Given the description of an element on the screen output the (x, y) to click on. 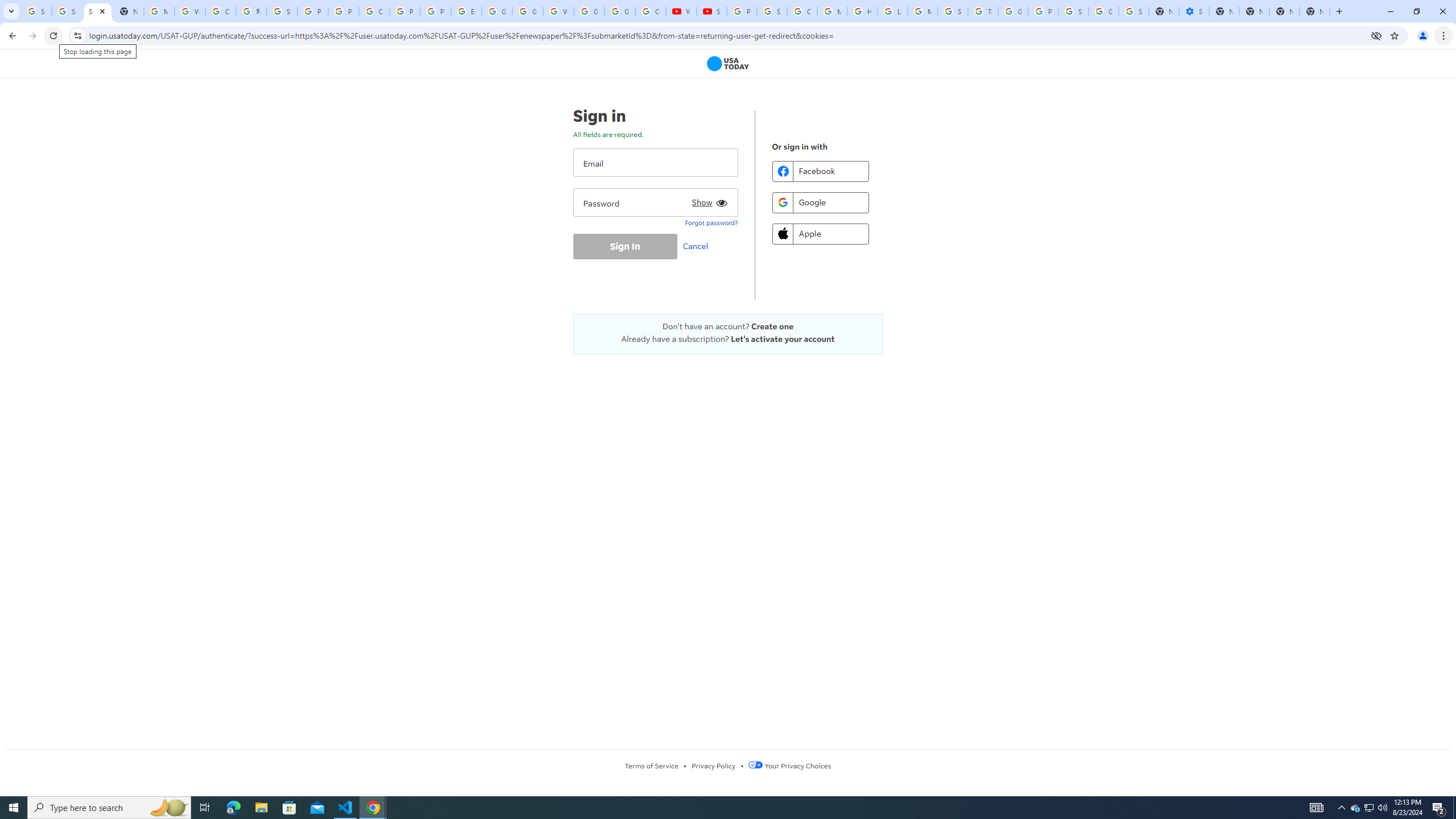
Sign in - Google Accounts (66, 11)
Google Cybersecurity Innovations - Google Safety Center (1103, 11)
Facebook (820, 170)
Settings - Performance (1193, 11)
Trusted Information and Content - Google Safety Center (982, 11)
Already have a subscription? Let's activate your account (727, 338)
Cancel (697, 245)
